Given the description of an element on the screen output the (x, y) to click on. 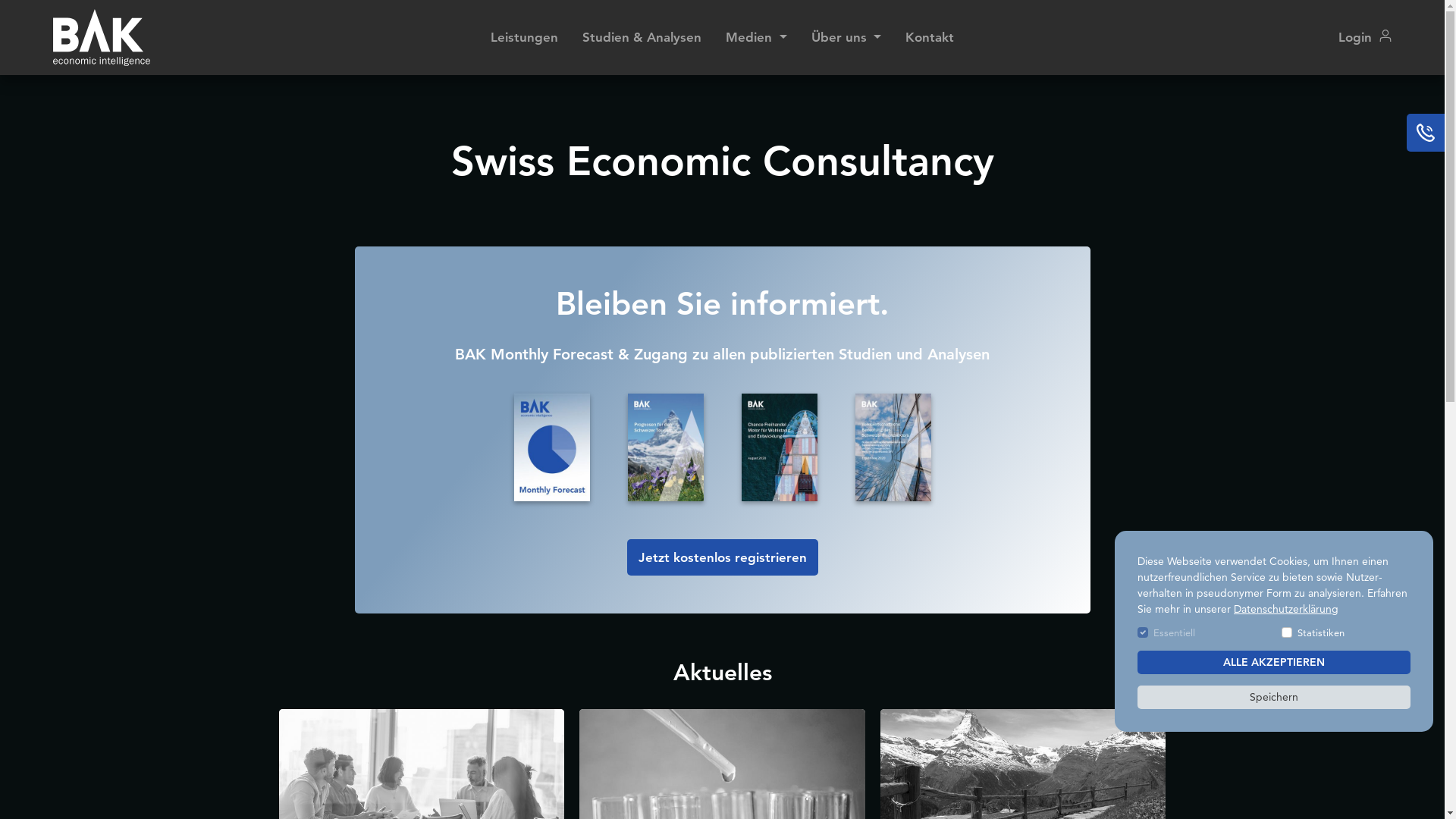
Leistungen Element type: text (524, 37)
Jetzt kostenlos registrieren Element type: text (721, 557)
Studien & Analysen Element type: text (641, 37)
Medien Element type: text (755, 37)
Kontakt Element type: text (929, 37)
